Given the description of an element on the screen output the (x, y) to click on. 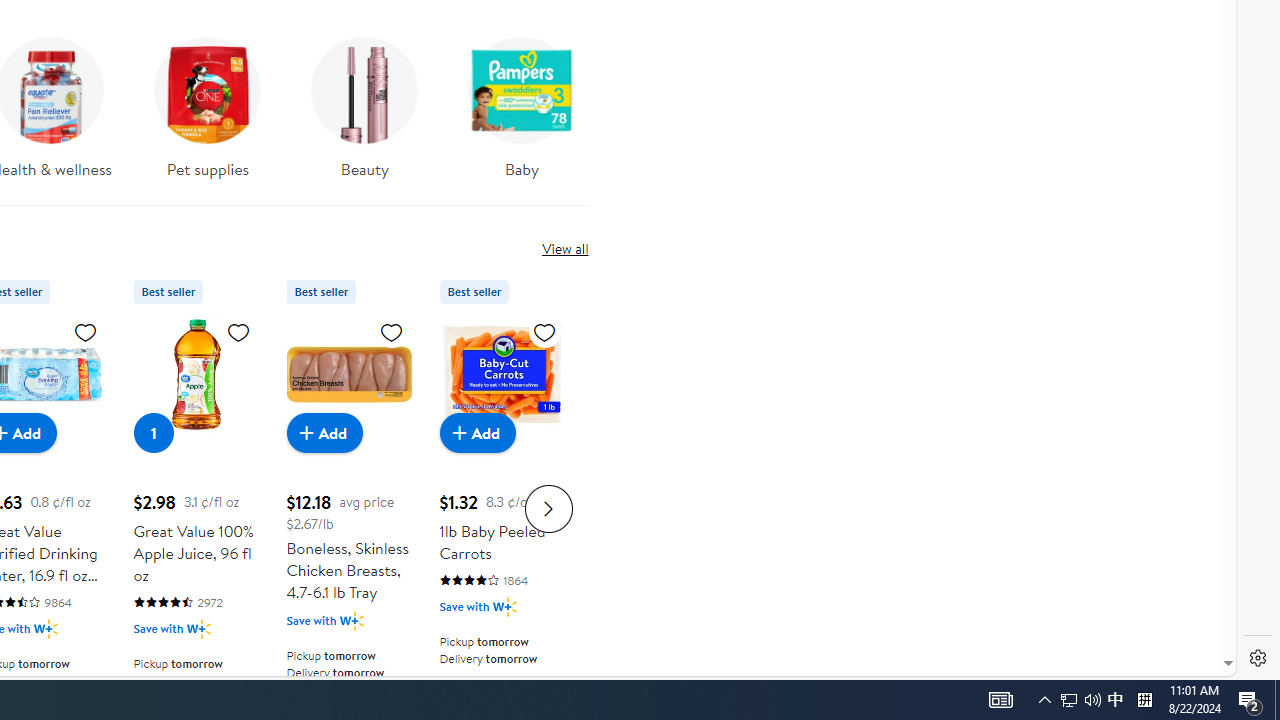
Add to cart - 1lb Baby Peeled Carrots (478, 431)
Great Value 100% Apple Juice, 96 fl oz (195, 374)
1 in cart, Great Value 100% Apple Juice, 96 fl oz (153, 431)
